Given the description of an element on the screen output the (x, y) to click on. 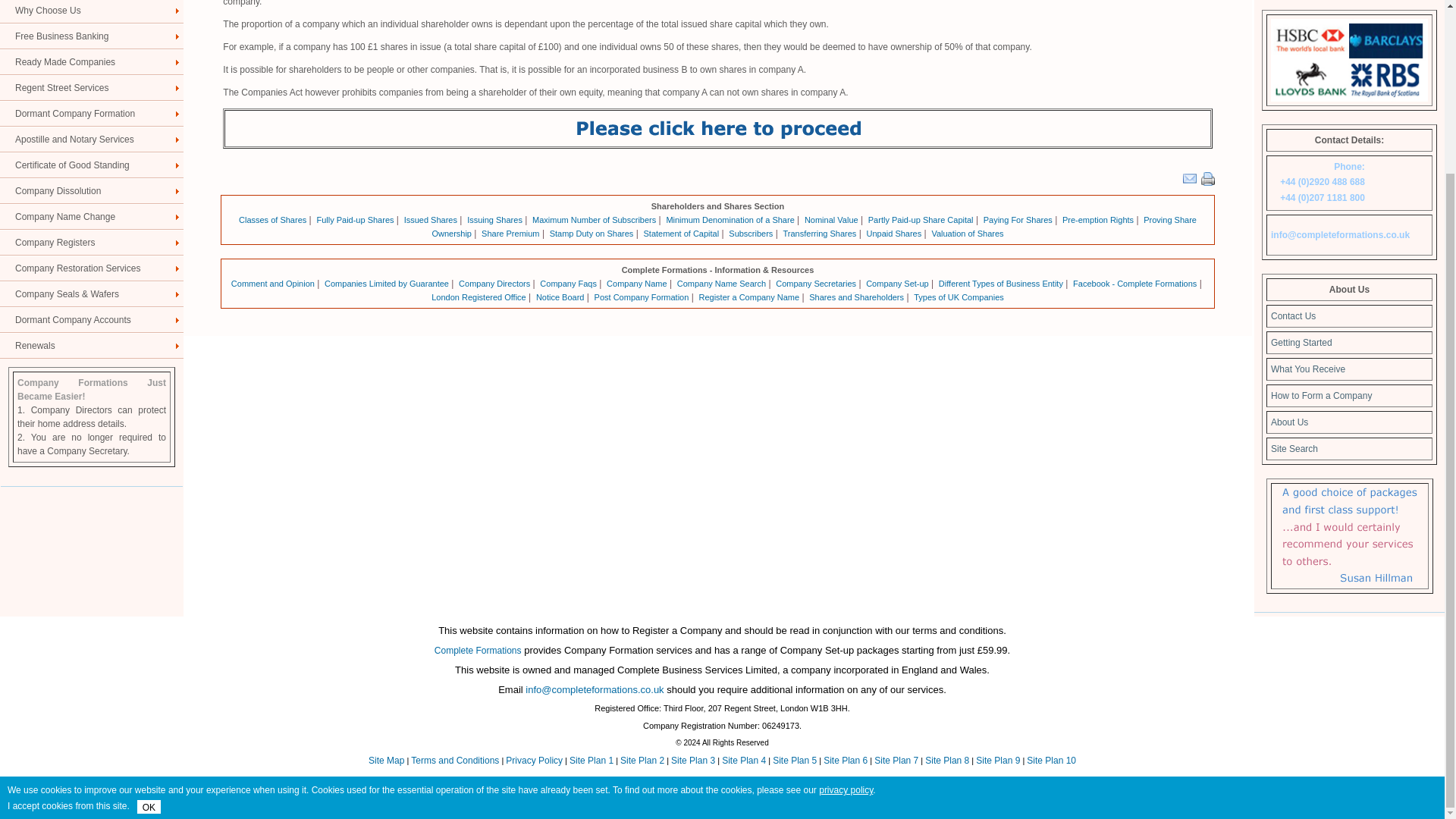
Certificate of Good Standing (91, 165)
Valuation of Shares (967, 233)
Nominal Value (832, 219)
Partly Paid-up Share Capital (920, 219)
Transferring Shares (820, 233)
Company Restoration Services (91, 268)
Proving Share Ownership (813, 226)
Company Name Change (91, 216)
Paying For Shares (1018, 219)
View our privacy policy page (845, 579)
Minimum Denomination of a Share (729, 219)
Why Choose Us (91, 11)
Issued Shares (430, 219)
Ready Made Companies (91, 62)
Issuing Shares (494, 219)
